Given the description of an element on the screen output the (x, y) to click on. 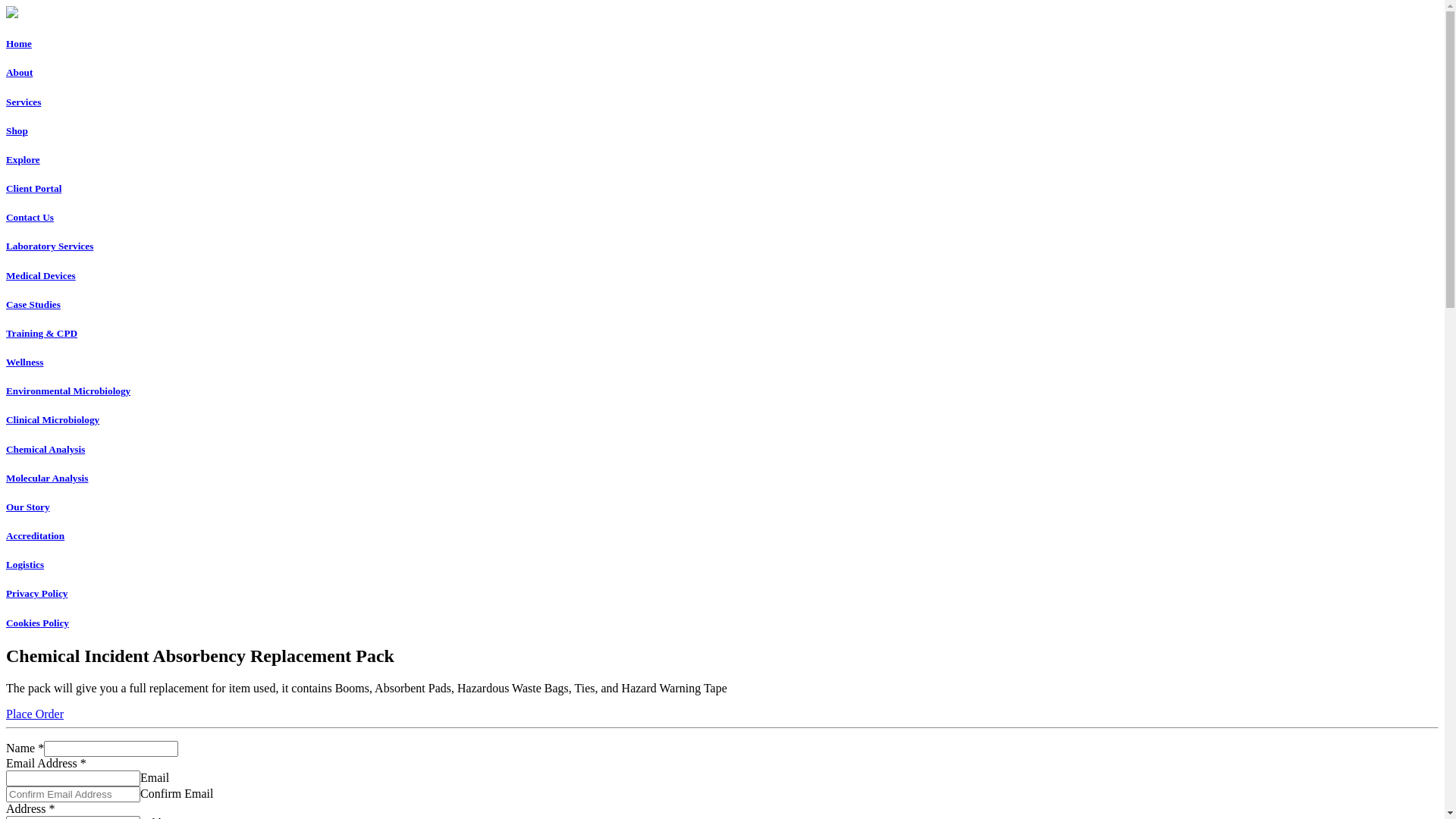
Home Element type: text (18, 43)
Place Order Element type: text (34, 713)
Environmental Microbiology Element type: text (722, 391)
Client Portal Element type: text (33, 188)
Case Studies Element type: text (722, 304)
Our Story Element type: text (722, 507)
Shop Element type: text (17, 130)
Laboratory Services Element type: text (49, 245)
Chemical Analysis Element type: text (722, 449)
Logistics Element type: text (722, 564)
Training & CPD Element type: text (722, 333)
Molecular Analysis Element type: text (722, 478)
Cookies Policy Element type: text (722, 623)
About Element type: text (19, 72)
Clinical Microbiology Element type: text (722, 420)
Contact Us Element type: text (29, 216)
Wellness Element type: text (722, 362)
Services Element type: text (23, 101)
Explore Element type: text (23, 159)
Medical Devices Element type: text (40, 275)
Privacy Policy Element type: text (722, 593)
Accreditation Element type: text (722, 536)
